Given the description of an element on the screen output the (x, y) to click on. 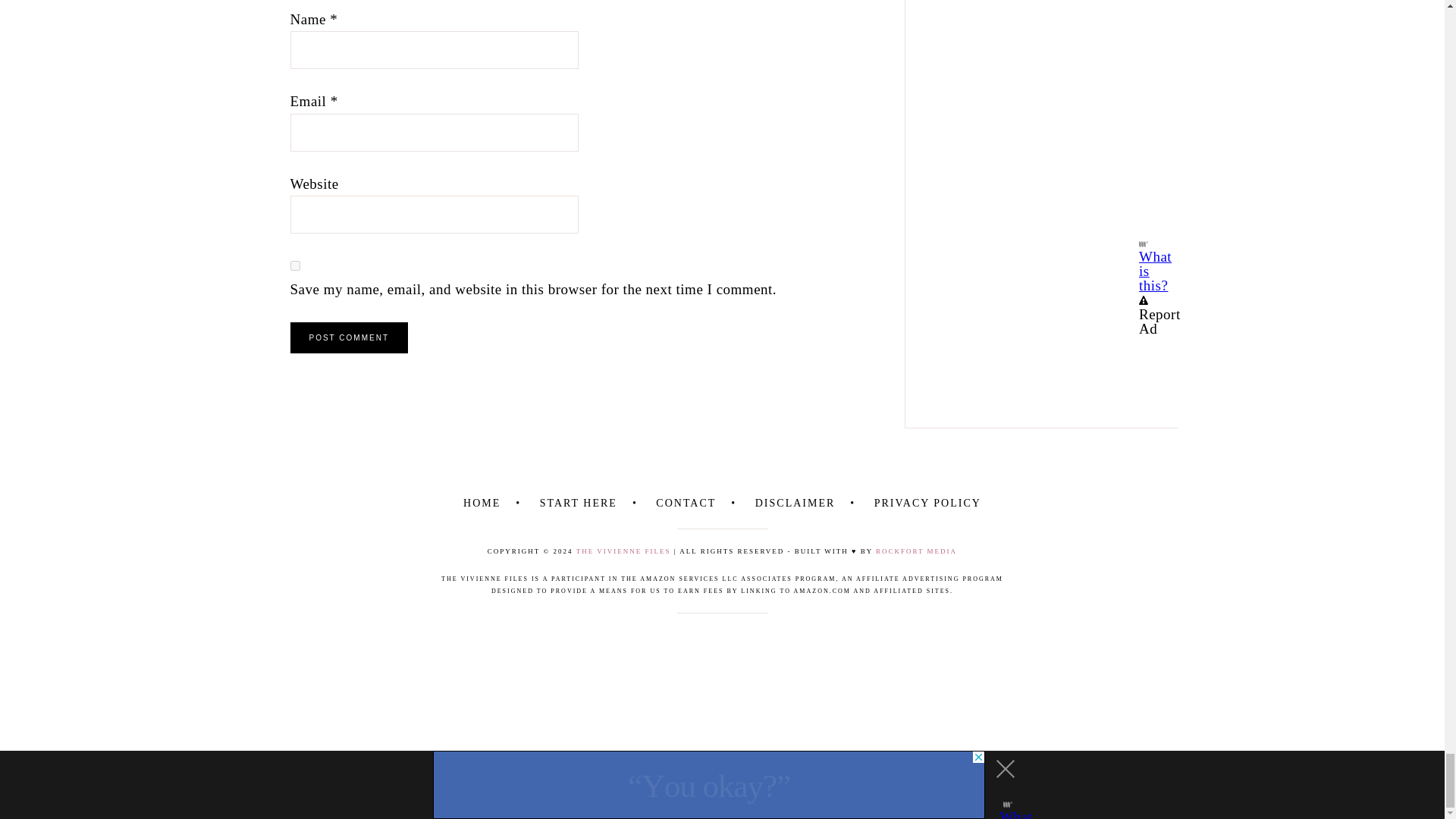
yes (294, 266)
Post Comment (348, 337)
RockFort Media (916, 551)
The Vivienne Files (623, 551)
